Given the description of an element on the screen output the (x, y) to click on. 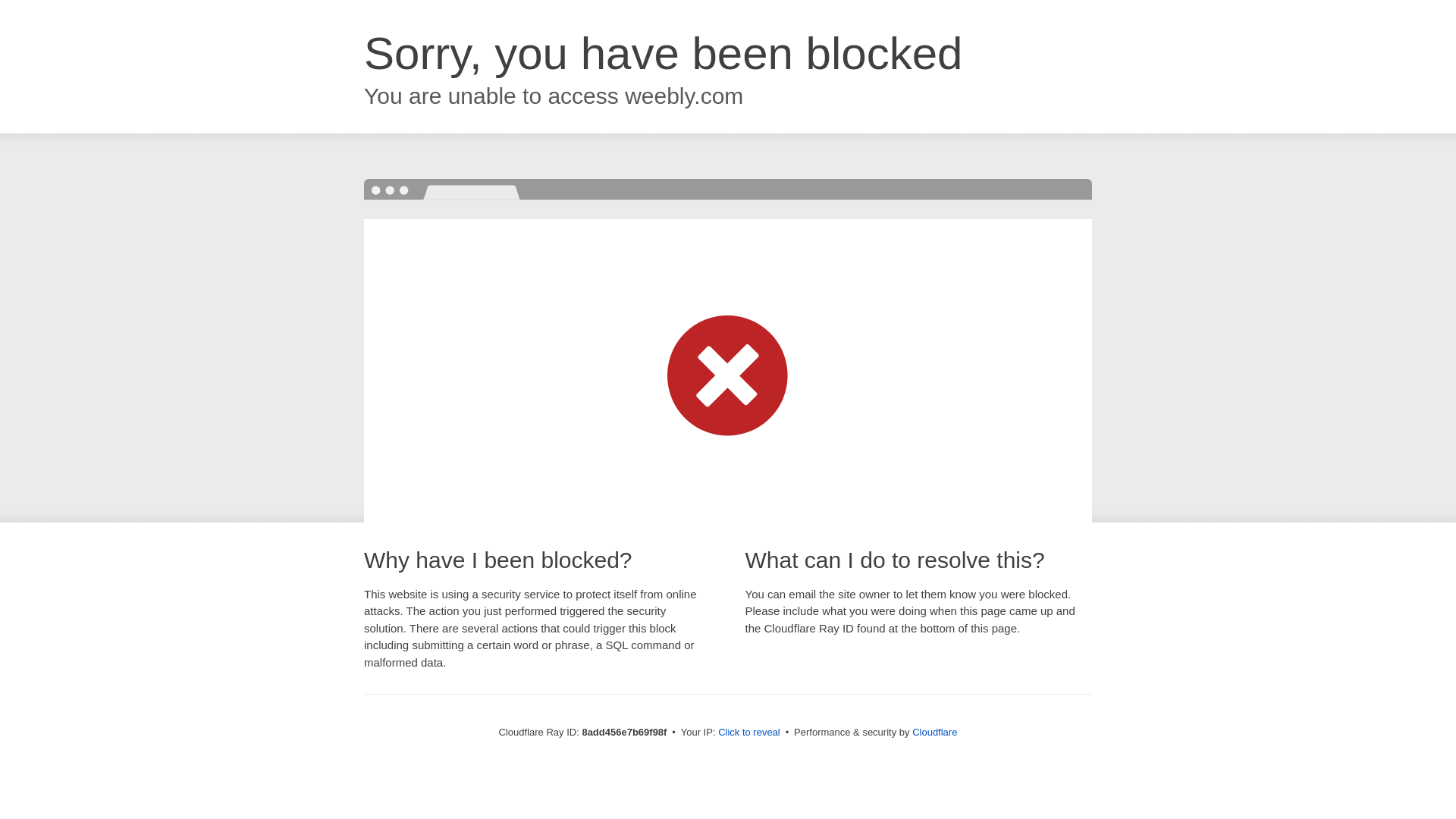
Click to reveal (748, 732)
Cloudflare (934, 731)
